Given the description of an element on the screen output the (x, y) to click on. 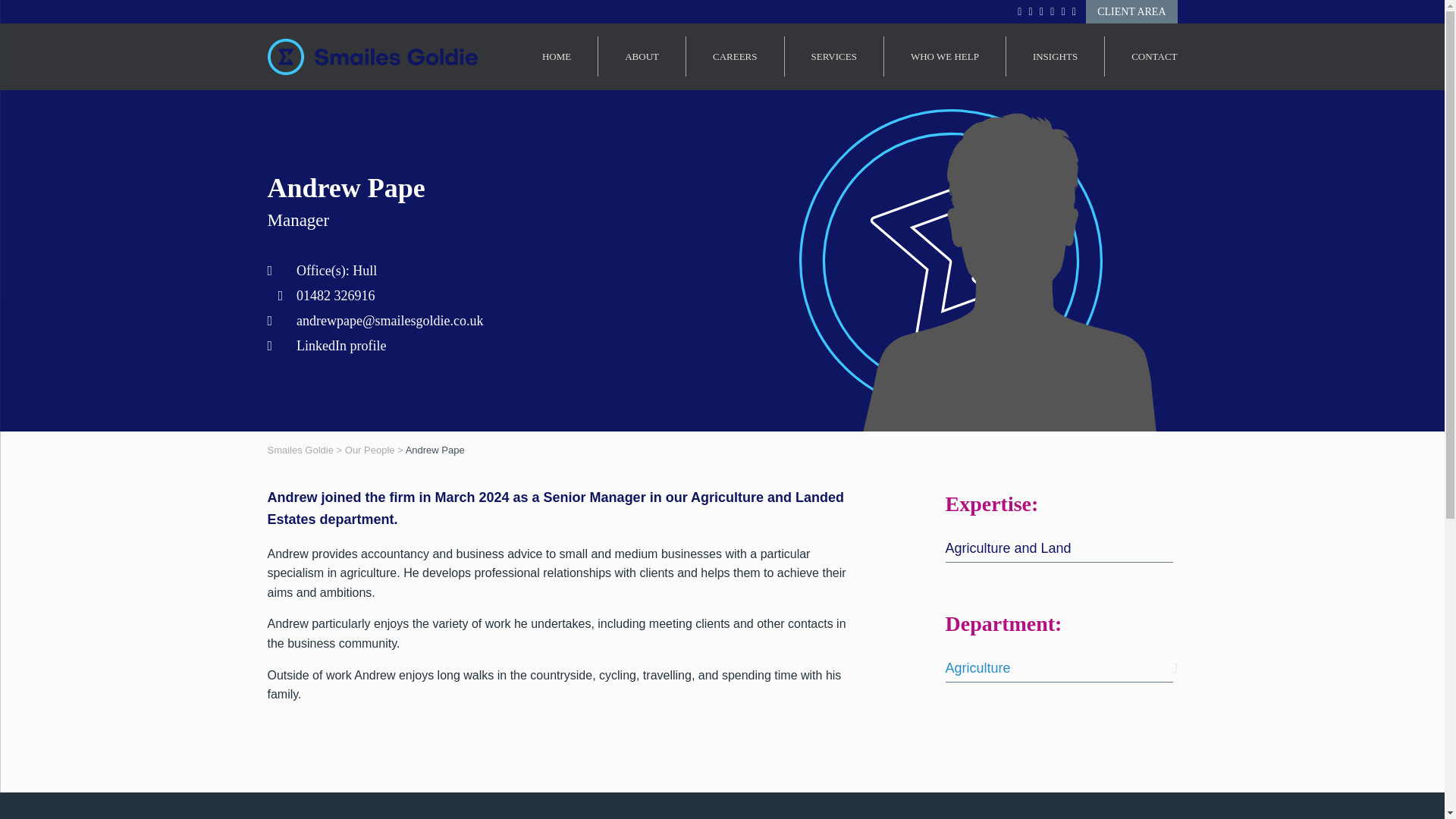
Go to Smailes Goldie. (299, 449)
Go to Our People. (369, 449)
ABOUT (641, 56)
WHO WE HELP (944, 56)
HOME (555, 56)
SERVICES (833, 56)
CAREERS (734, 56)
Smailes Goldie (371, 56)
CLIENT AREA (1131, 11)
